Given the description of an element on the screen output the (x, y) to click on. 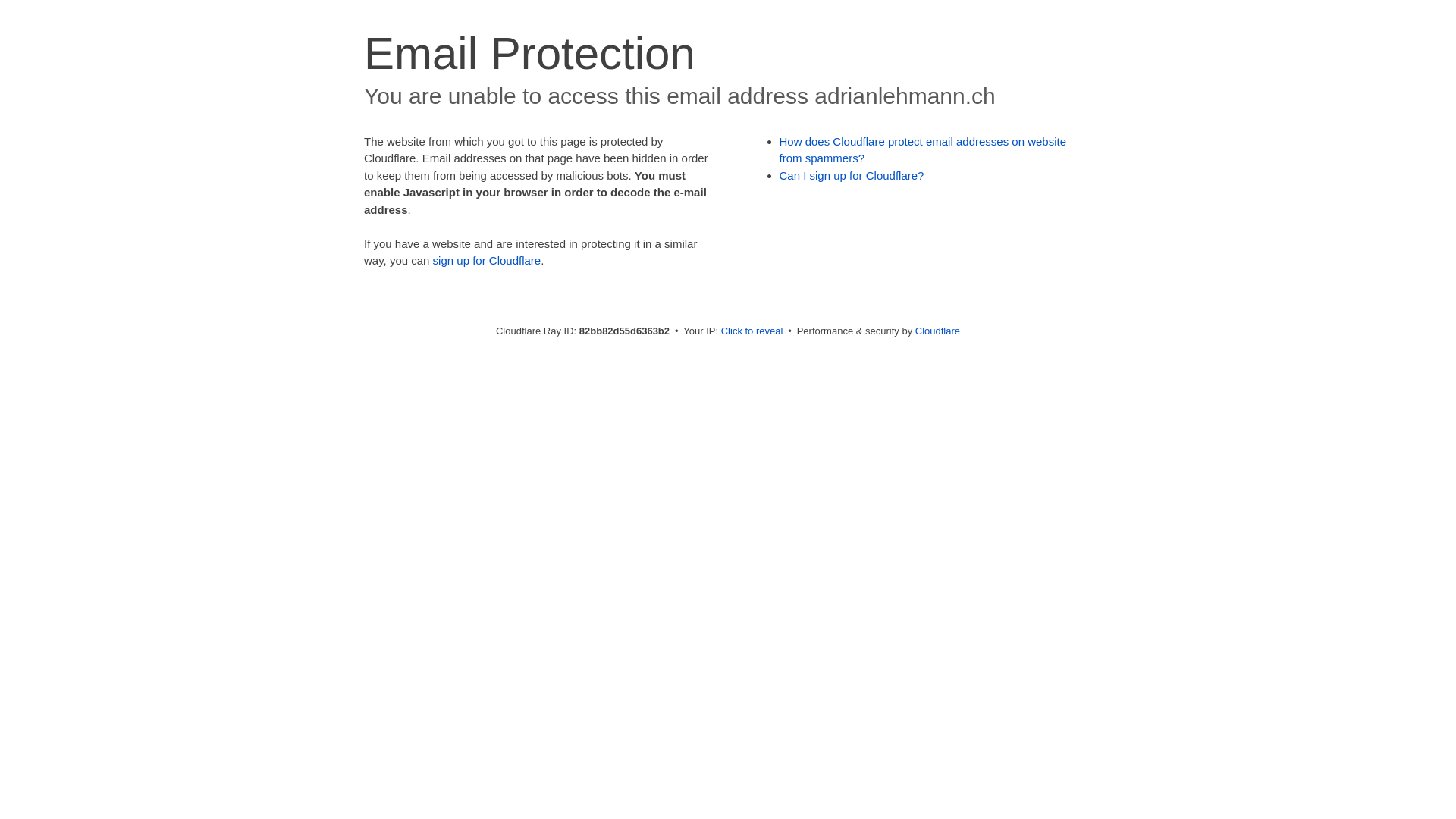
Click to reveal Element type: text (752, 330)
sign up for Cloudflare Element type: text (487, 260)
Cloudflare Element type: text (937, 330)
Can I sign up for Cloudflare? Element type: text (851, 175)
